Given the description of an element on the screen output the (x, y) to click on. 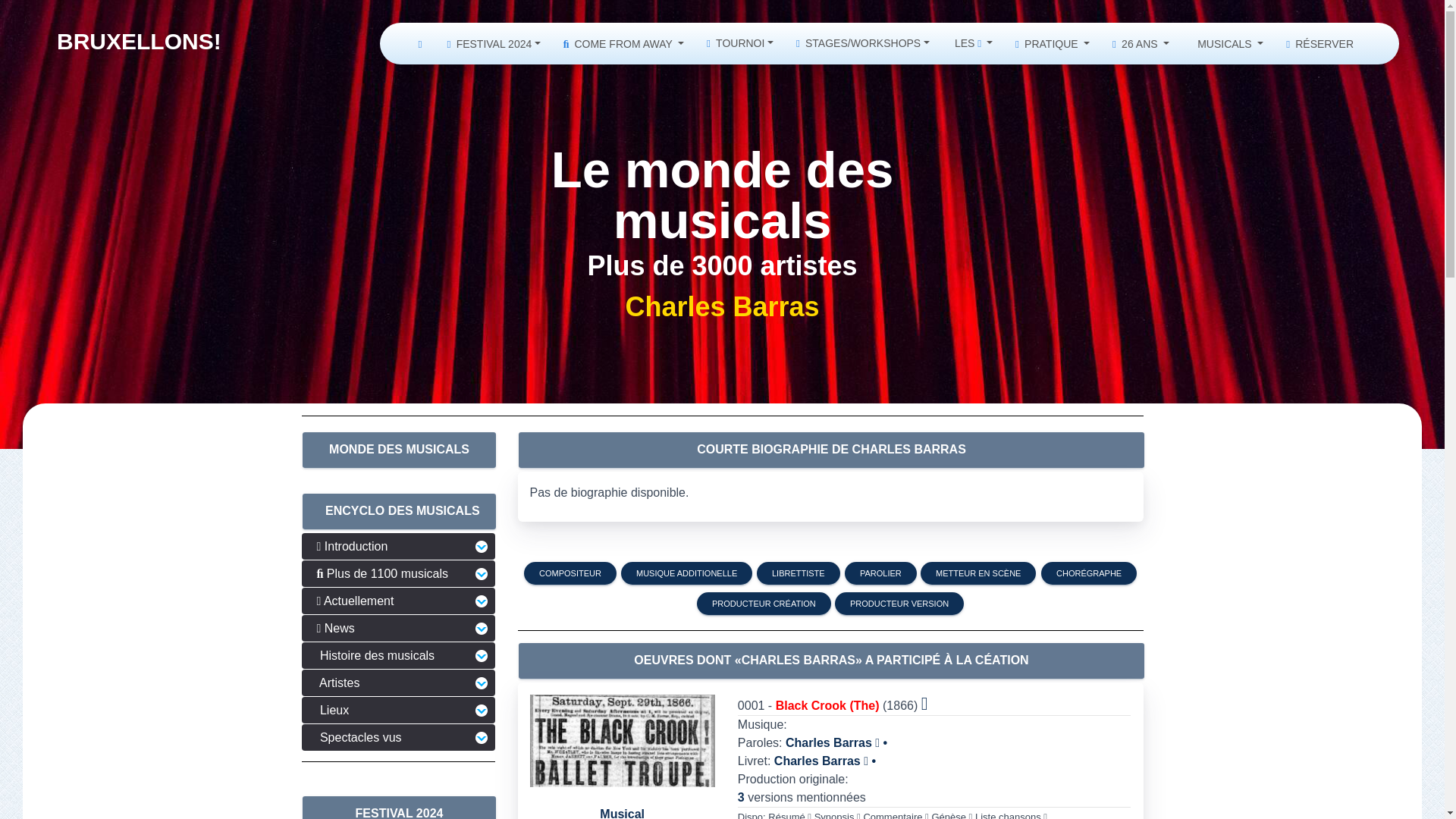
COME FROM AWAY (623, 42)
FESTIVAL 2024 (493, 42)
BRUXELLONS! (138, 41)
